Given the description of an element on the screen output the (x, y) to click on. 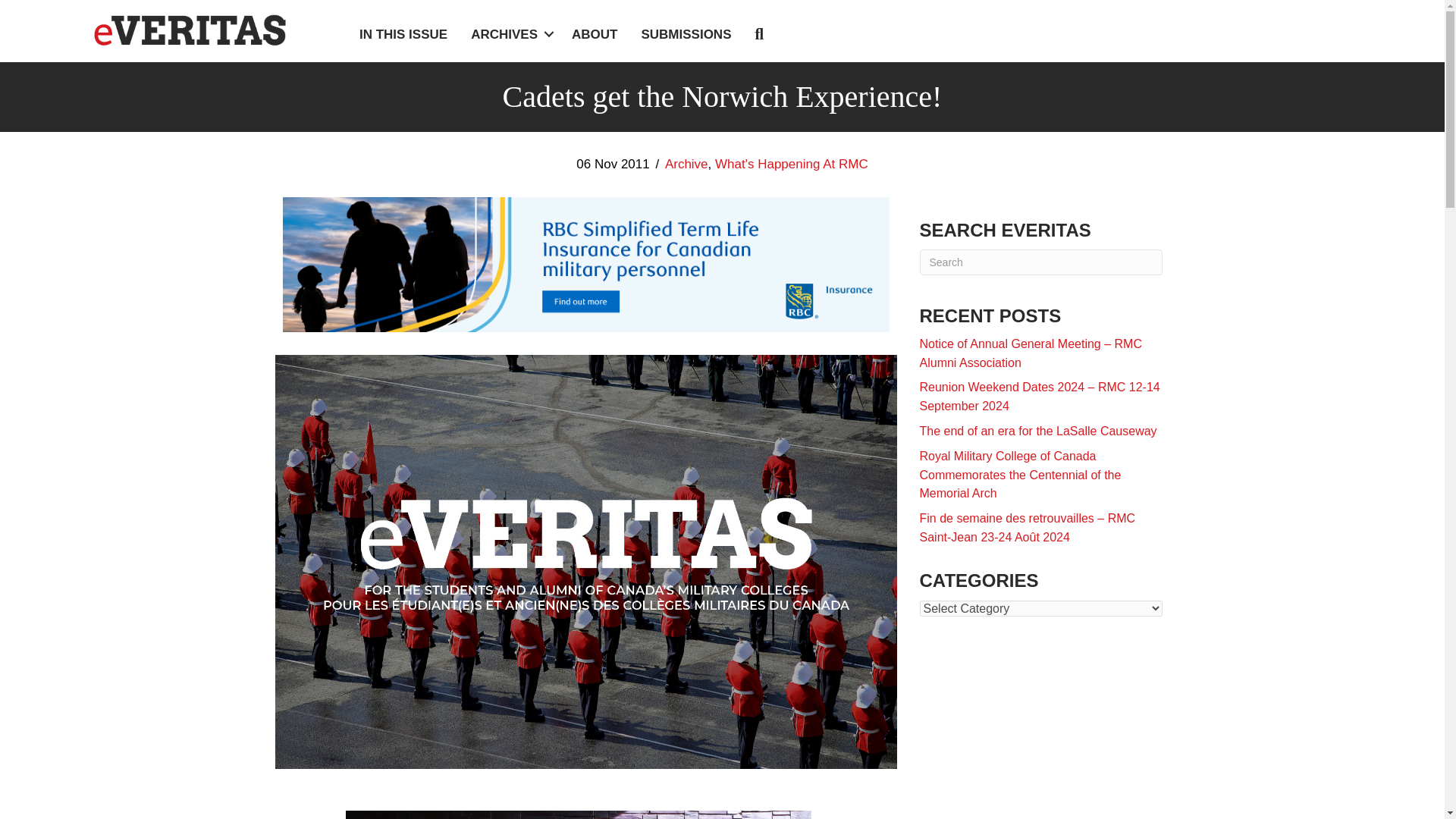
ARCHIVES (509, 34)
IN THIS ISSUE (402, 34)
SEARCH (761, 34)
SUBMISSIONS (685, 34)
The end of an era for the LaSalle Causeway (1037, 431)
What's Happening At RMC (790, 164)
ABOUT (594, 34)
Archive (686, 164)
Type and press Enter to search. (1039, 262)
